Given the description of an element on the screen output the (x, y) to click on. 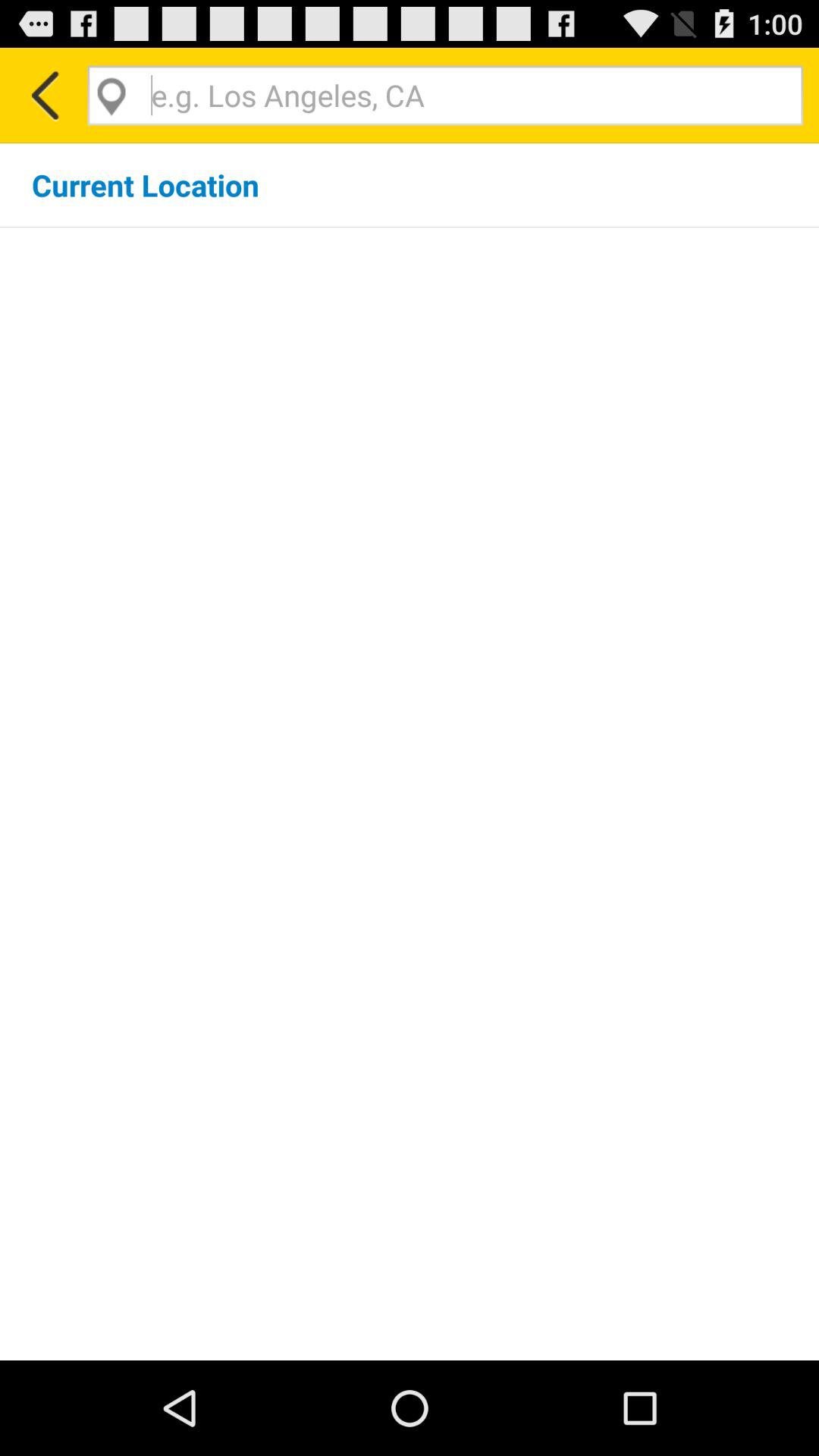
search in specific geographic zone (445, 95)
